Given the description of an element on the screen output the (x, y) to click on. 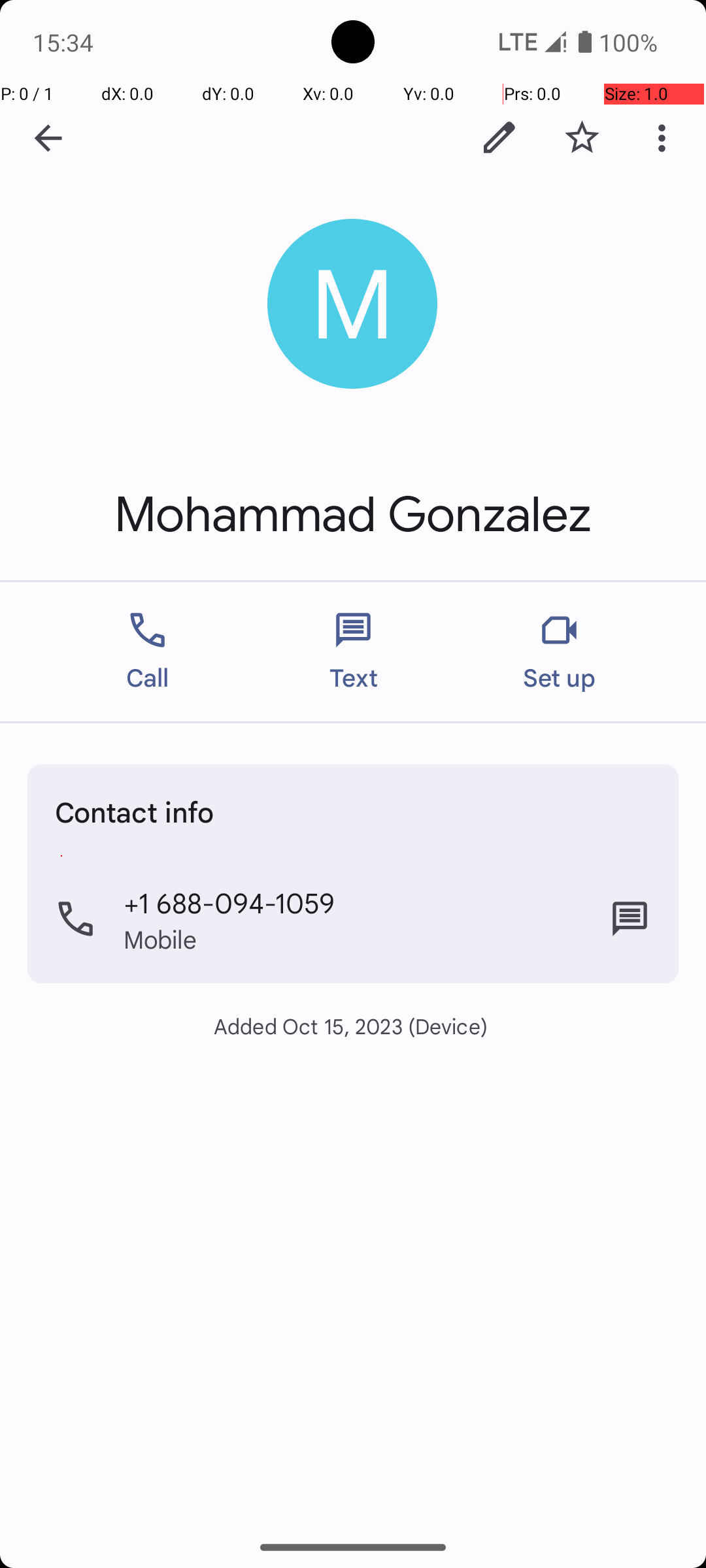
Set up Element type: android.widget.TextView (559, 651)
Mohammad Gonzalez Element type: android.widget.TextView (352, 514)
Call Mobile +1 688-094-1059 Element type: android.widget.RelativeLayout (352, 919)
Added Oct 15, 2023 (Device)  Element type: android.widget.TextView (352, 1025)
+1 688-094-1059 Element type: android.widget.TextView (229, 901)
Text Mobile +1 688-094-1059 Element type: android.widget.Button (629, 919)
